Given the description of an element on the screen output the (x, y) to click on. 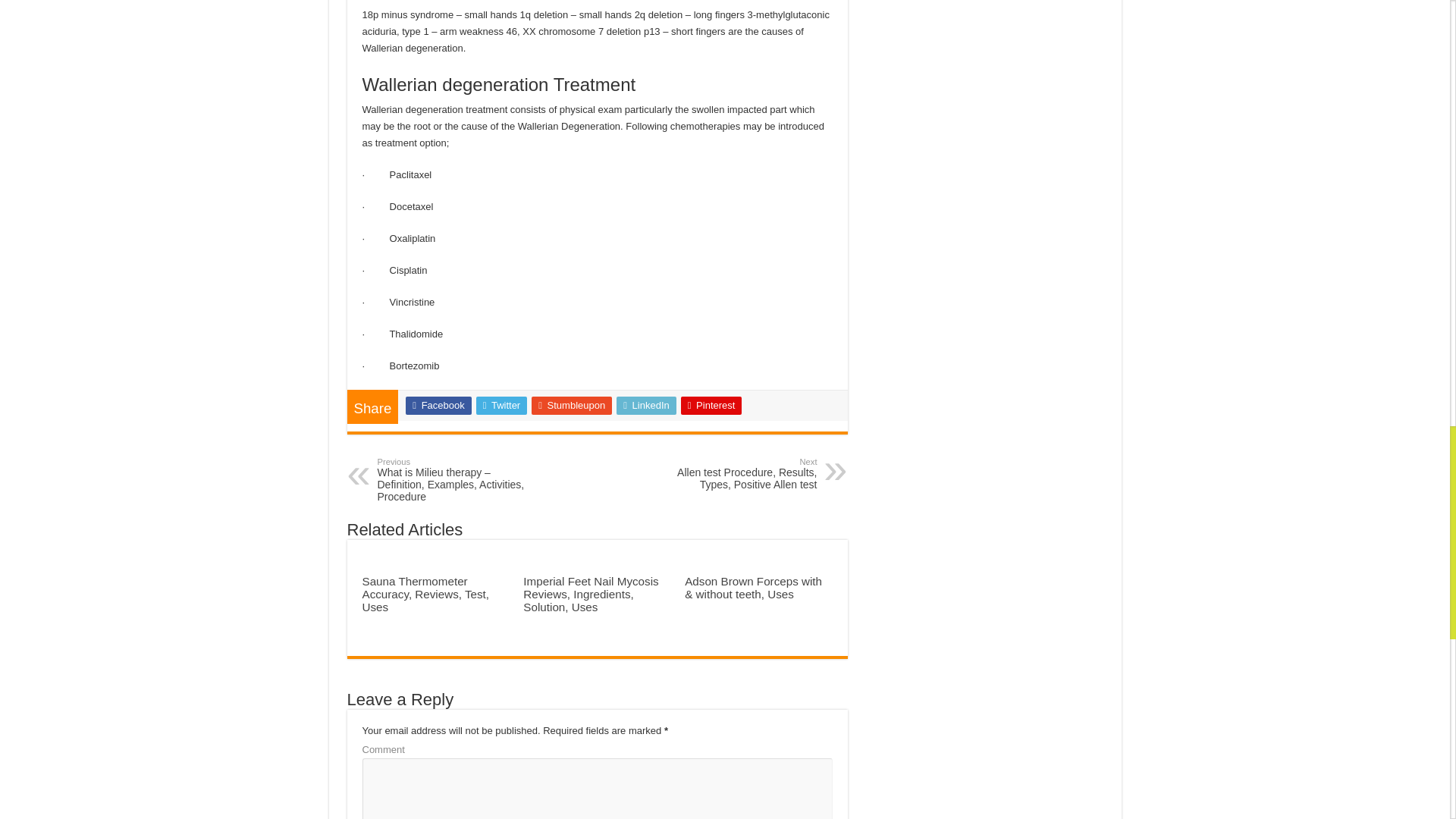
Facebook (438, 405)
Twitter (501, 405)
Stumbleupon (571, 405)
Pinterest (711, 405)
Sauna Thermometer Accuracy, Reviews, Test, Uses (425, 593)
LinkedIn (646, 405)
